Given the description of an element on the screen output the (x, y) to click on. 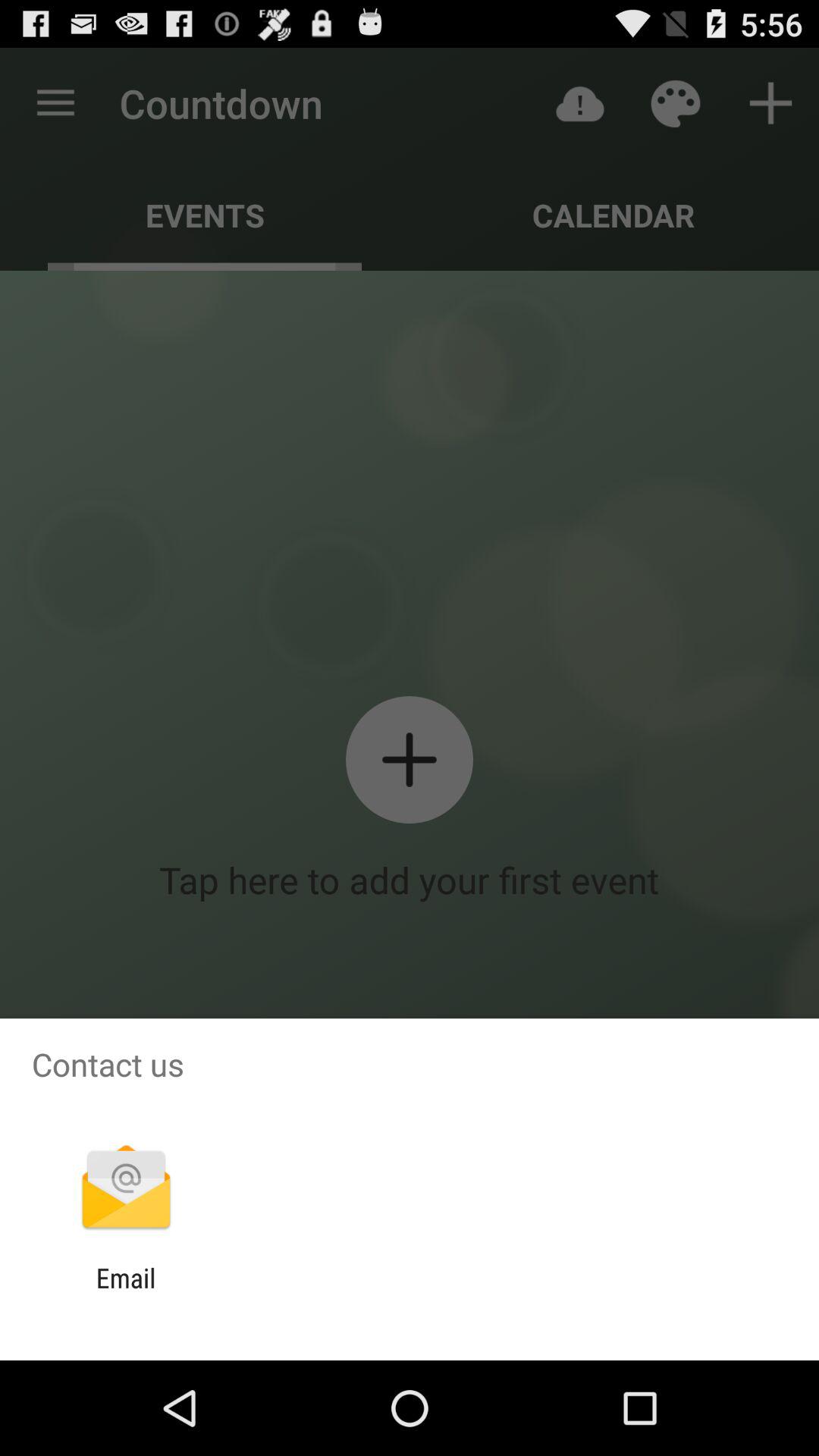
choose the email app (125, 1293)
